Given the description of an element on the screen output the (x, y) to click on. 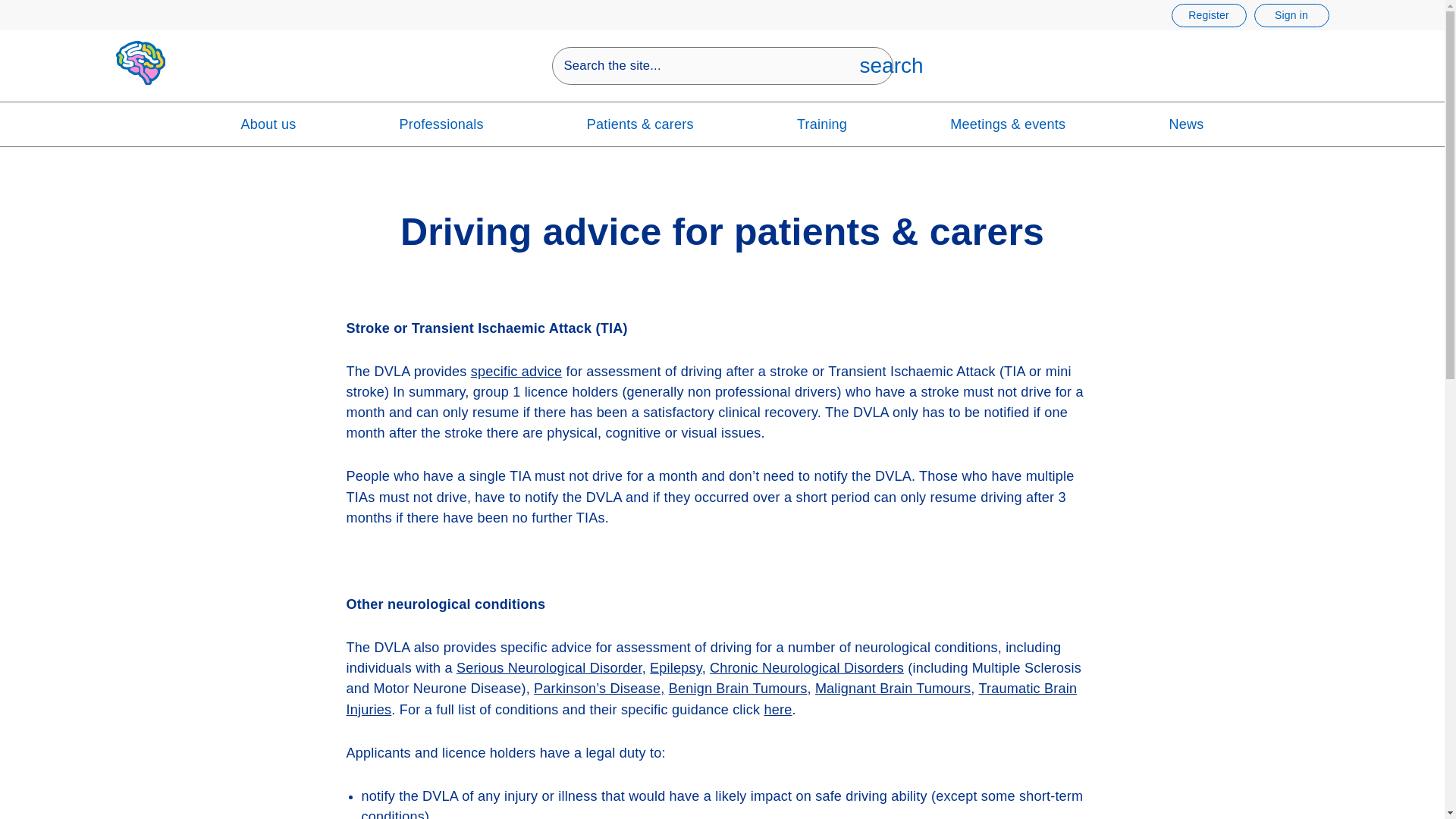
Training (821, 125)
here (777, 709)
Epilepsy (675, 667)
Malignant Brain Tumours (893, 688)
Serious Neurological Disorder (874, 65)
Traumatic Brain Injuries (549, 667)
Professionals (711, 698)
Chronic Neurological Disorders (440, 125)
Benign Brain Tumours (807, 667)
